Given the description of an element on the screen output the (x, y) to click on. 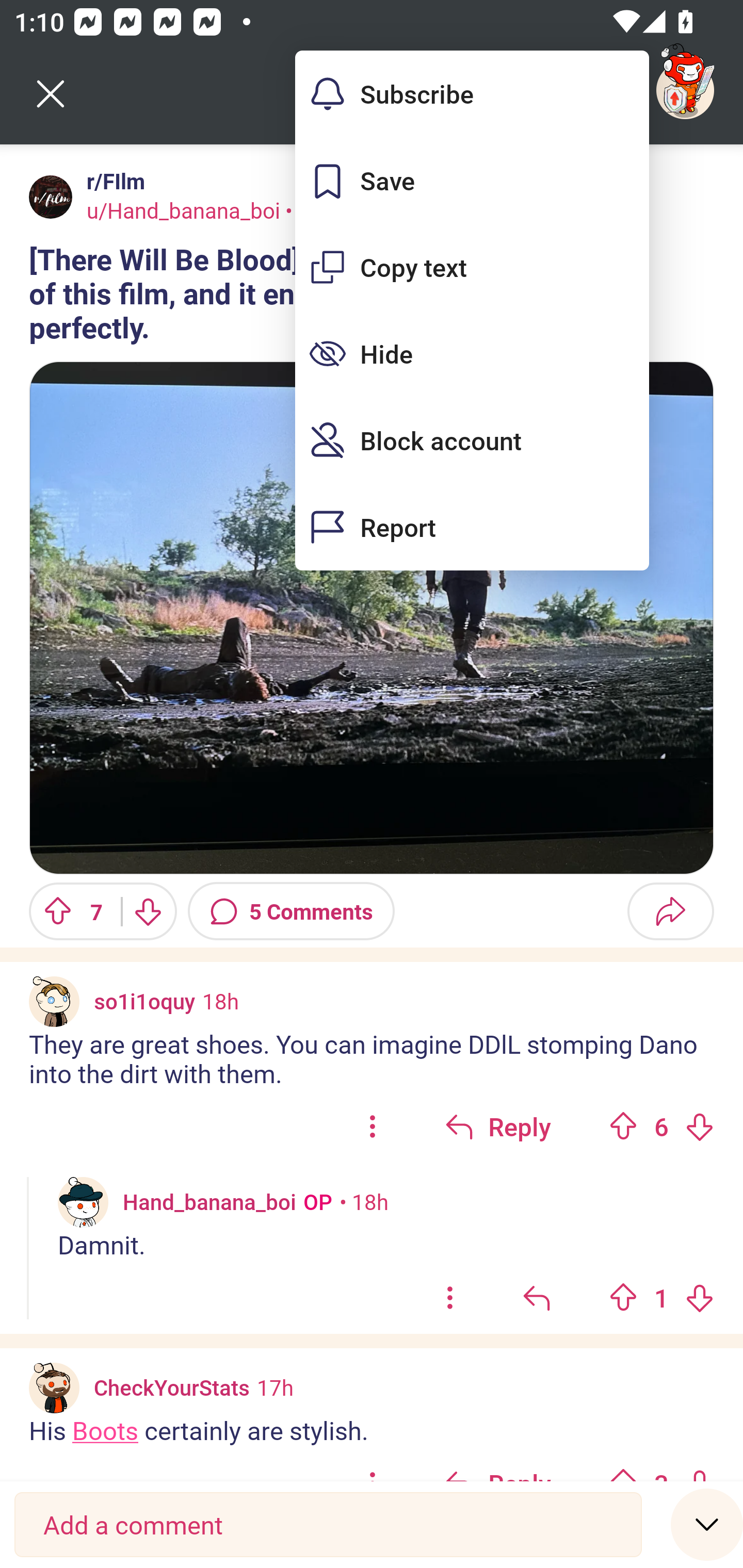
Subscribe (471, 93)
Save (471, 180)
Copy text (471, 267)
Hide (471, 353)
Block account (471, 440)
Report (471, 527)
